Given the description of an element on the screen output the (x, y) to click on. 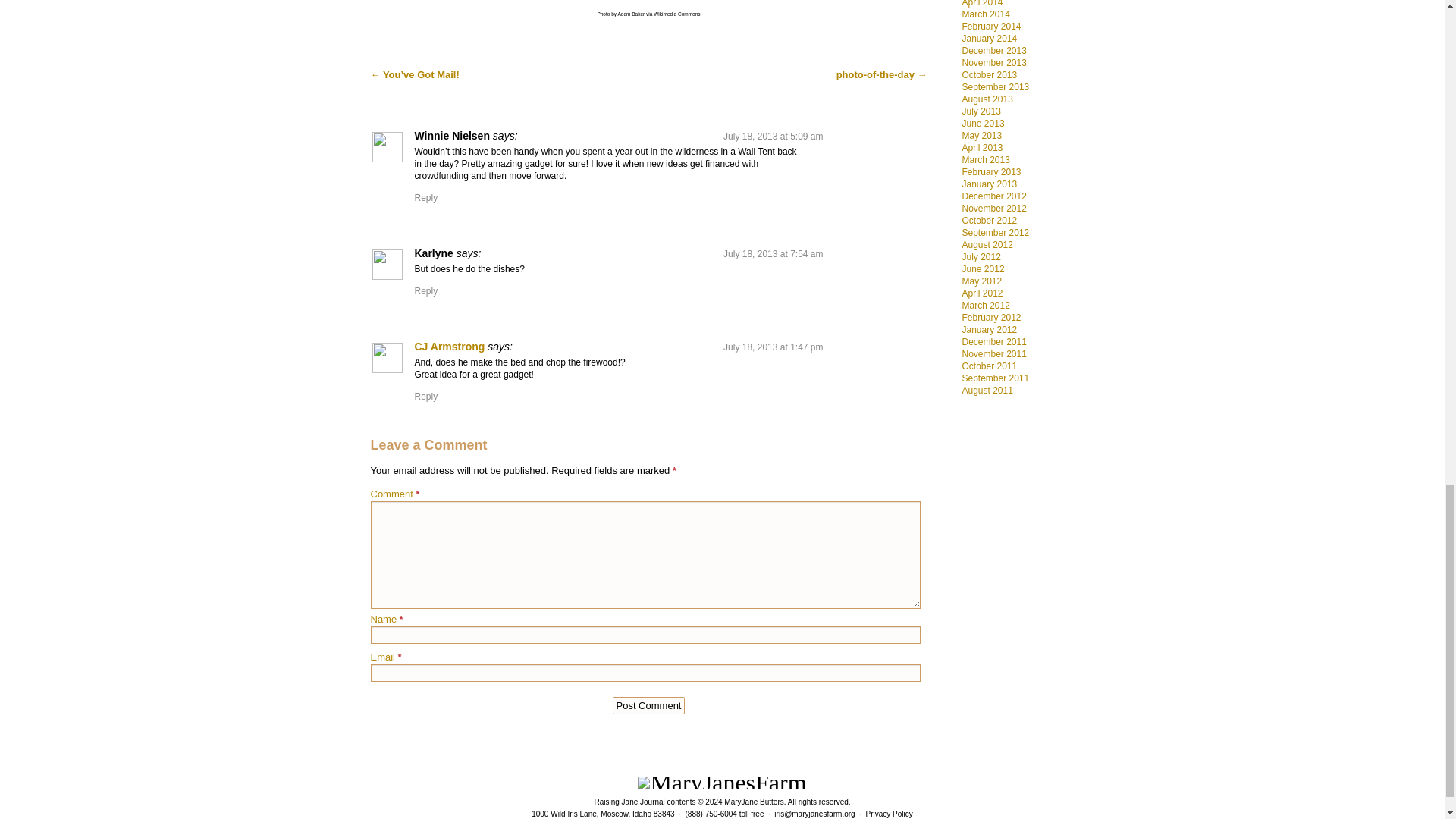
July 18, 2013 at 1:47 pm (772, 347)
July 18, 2013 at 5:09 am (772, 136)
Post Comment (648, 705)
Post Comment (648, 705)
Reply (425, 396)
Reply (425, 197)
CJ Armstrong (448, 346)
July 18, 2013 at 7:54 am (772, 253)
Reply (425, 290)
